Given the description of an element on the screen output the (x, y) to click on. 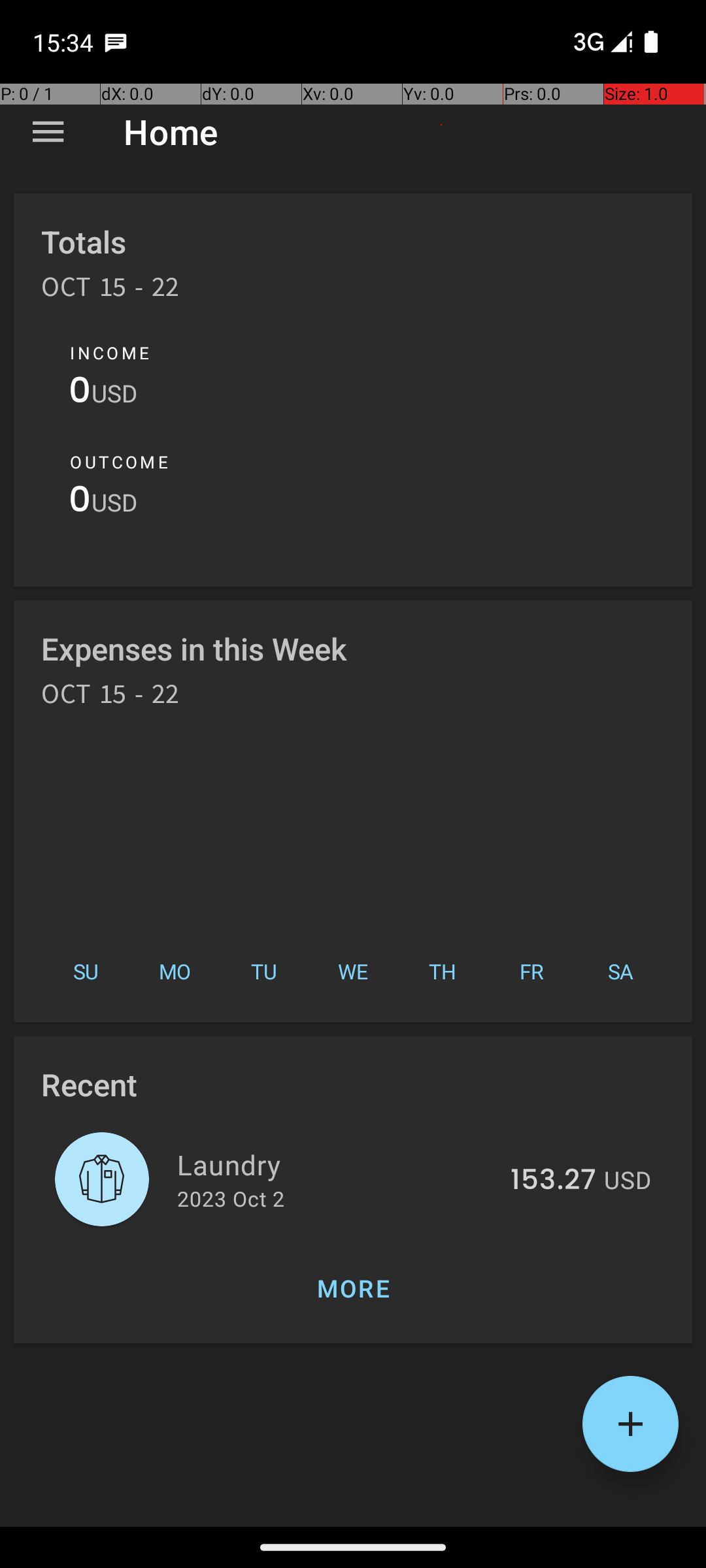
MORE Element type: android.widget.Button (352, 1288)
Laundry Element type: android.widget.TextView (336, 1164)
2023 Oct 2 Element type: android.widget.TextView (230, 1198)
153.27 Element type: android.widget.TextView (552, 1180)
